Given the description of an element on the screen output the (x, y) to click on. 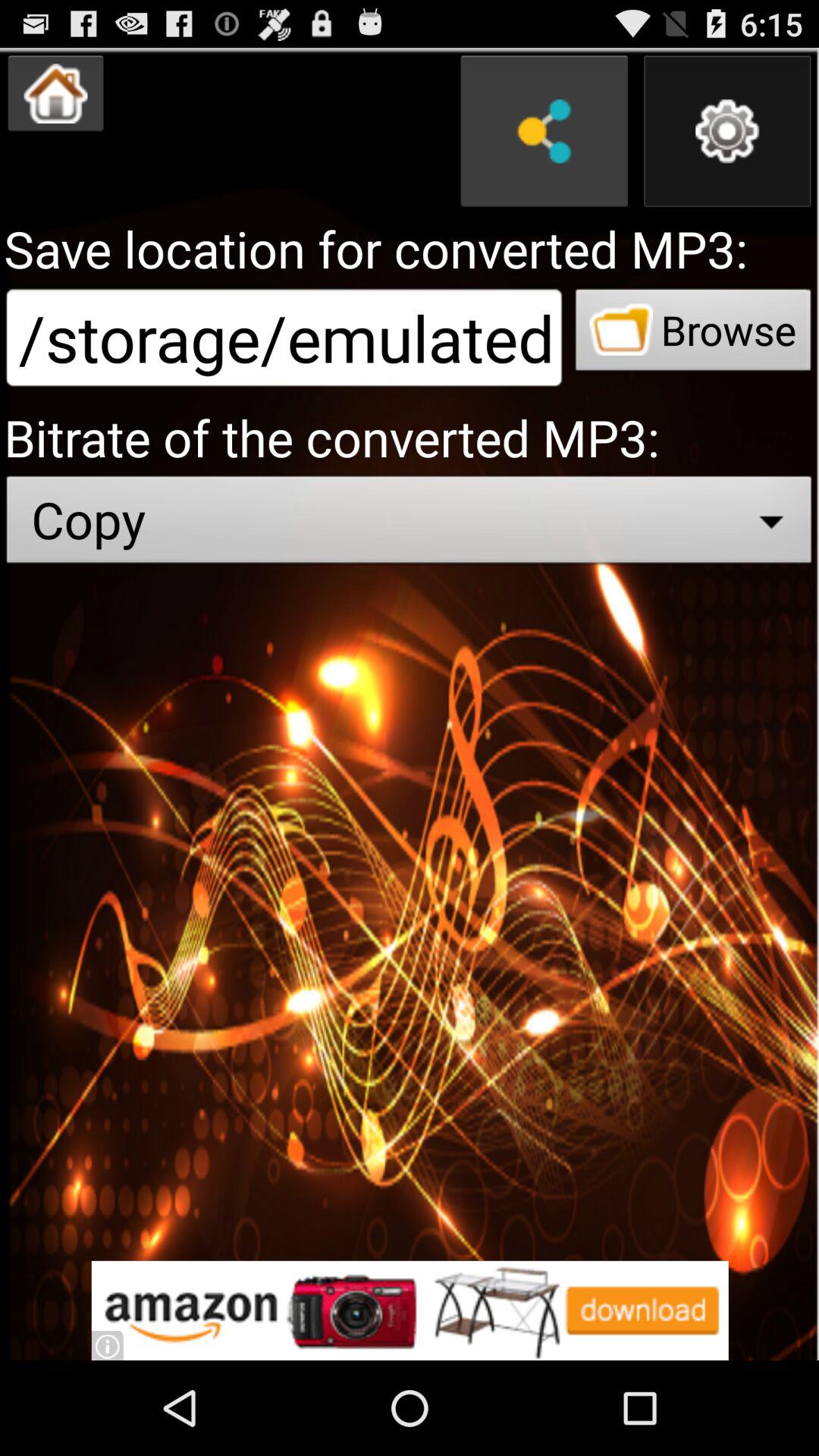
view settings (727, 130)
